Given the description of an element on the screen output the (x, y) to click on. 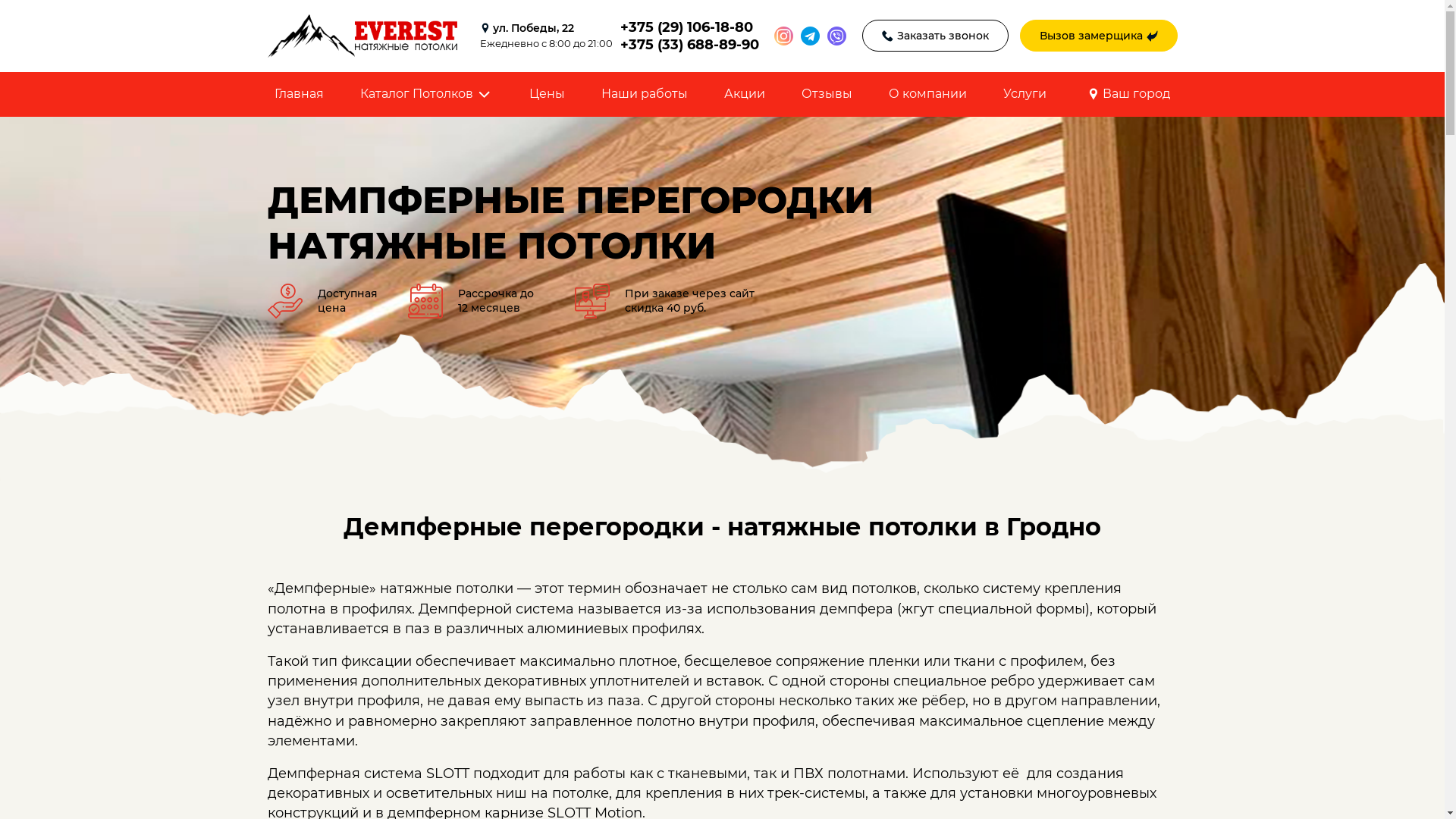
+375 (33) 688-89-90 Element type: text (689, 44)
+375 (29) 106-18-80 Element type: text (689, 27)
